Given the description of an element on the screen output the (x, y) to click on. 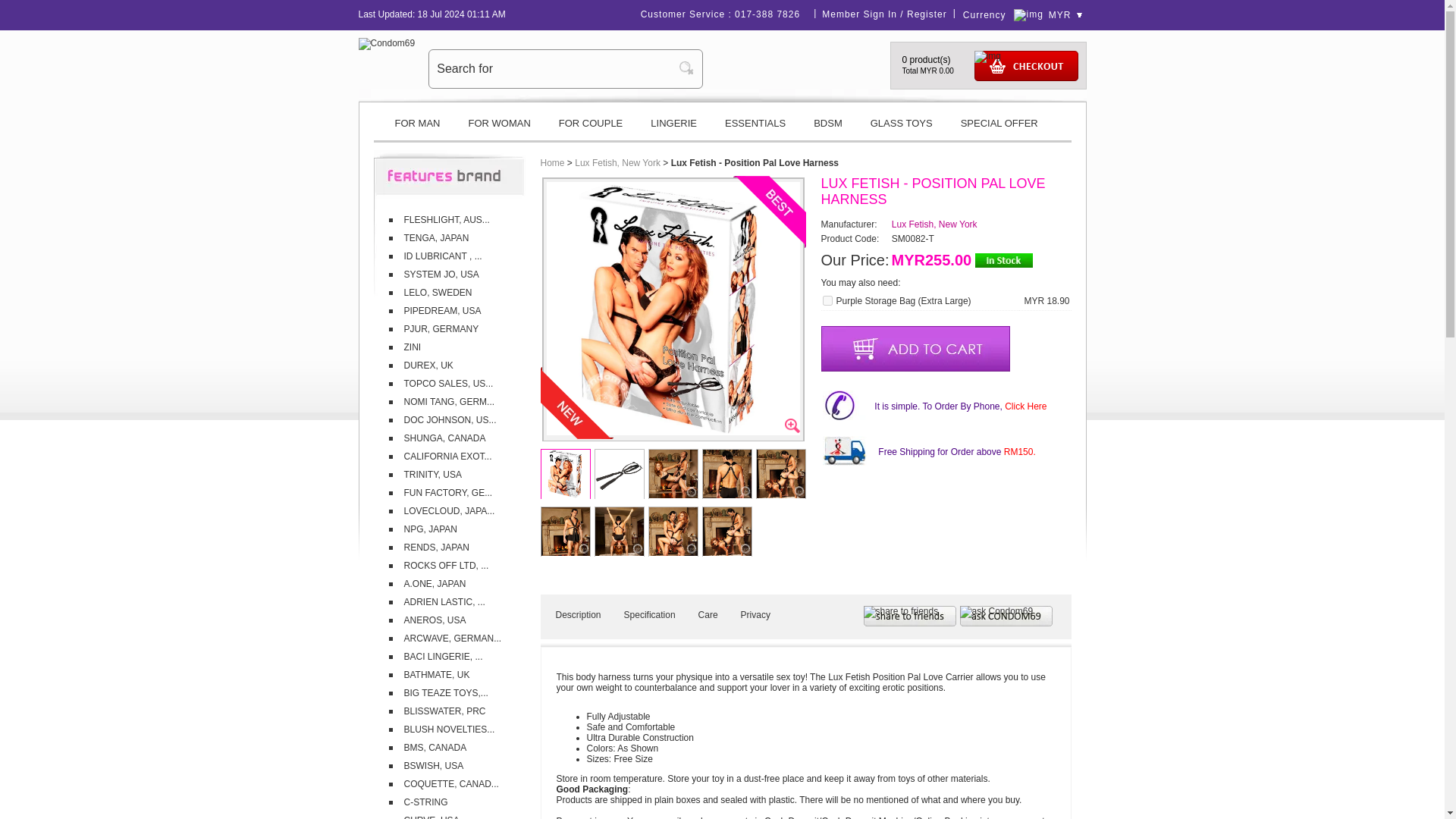
Sign In (879, 14)
FOR COUPLE (590, 128)
FOR MAN (416, 128)
FOR MAN (416, 128)
Condom69 (386, 42)
on (826, 300)
Search for (554, 68)
Condom69 (386, 43)
Register (927, 14)
Sign In (879, 14)
Register (927, 14)
Cart (1025, 65)
MYR (1065, 14)
FOR WOMAN (498, 128)
Search for (554, 68)
